Given the description of an element on the screen output the (x, y) to click on. 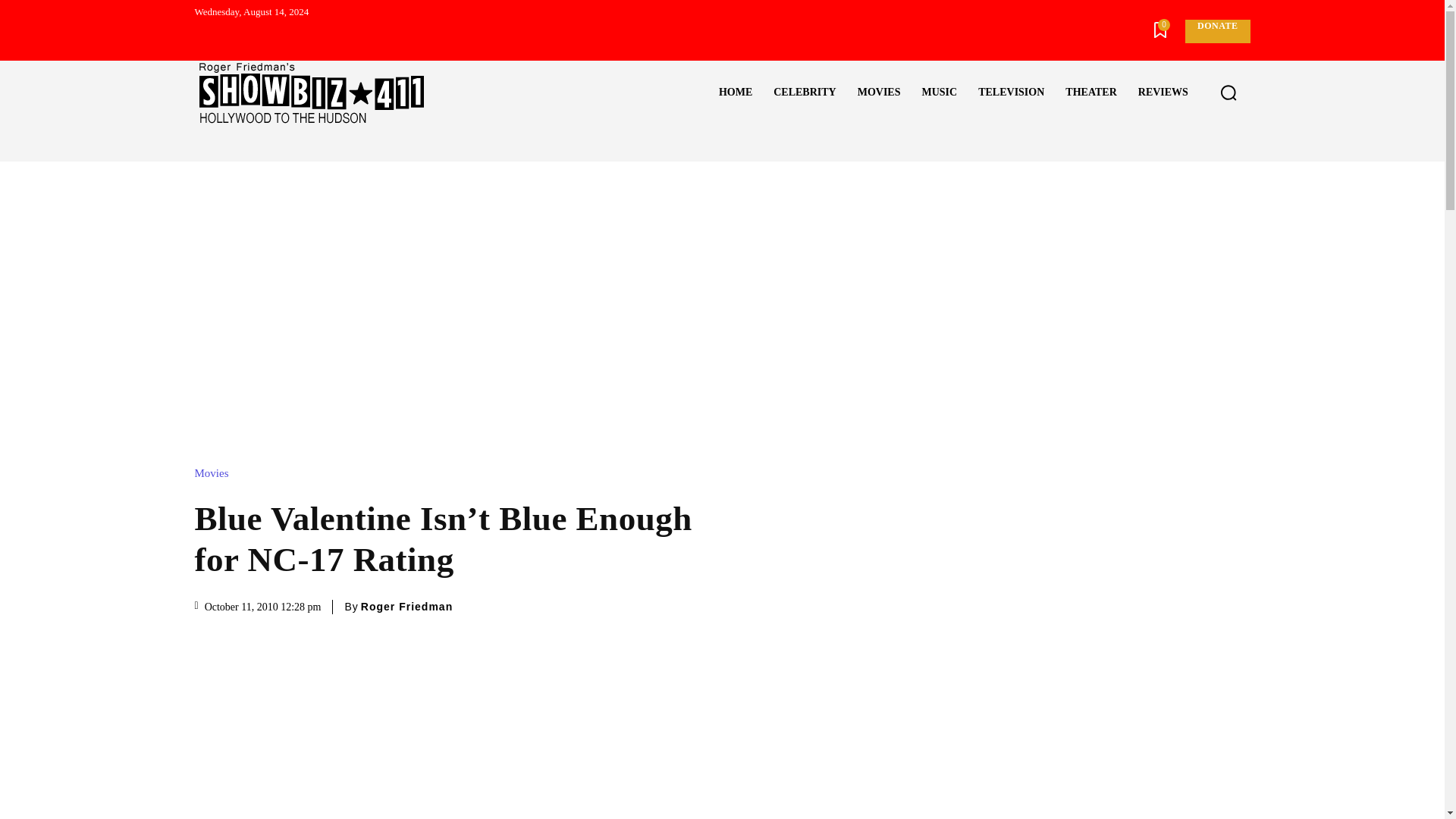
REVIEWS (1162, 92)
Movies (214, 473)
TELEVISION (1011, 92)
THEATER (1090, 92)
CELEBRITY (803, 92)
MUSIC (939, 92)
Donate (1217, 31)
HOME (734, 92)
DONATE (1217, 31)
MOVIES (879, 92)
